Given the description of an element on the screen output the (x, y) to click on. 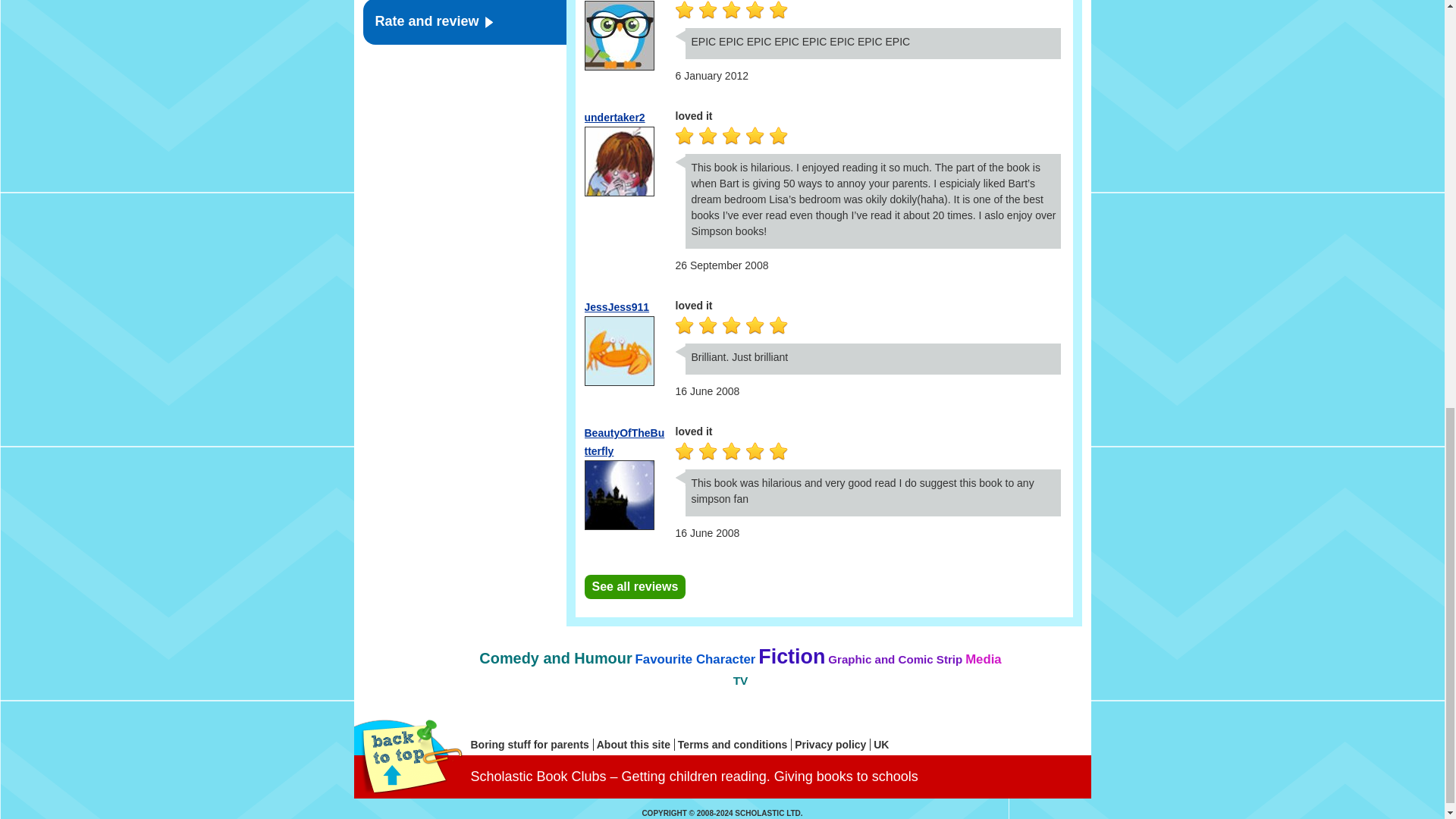
BeautyOfTheButterfly (623, 441)
Rate and review (464, 22)
undertaker2 (614, 117)
See all reviews (634, 586)
JessJess911 (616, 306)
